Given the description of an element on the screen output the (x, y) to click on. 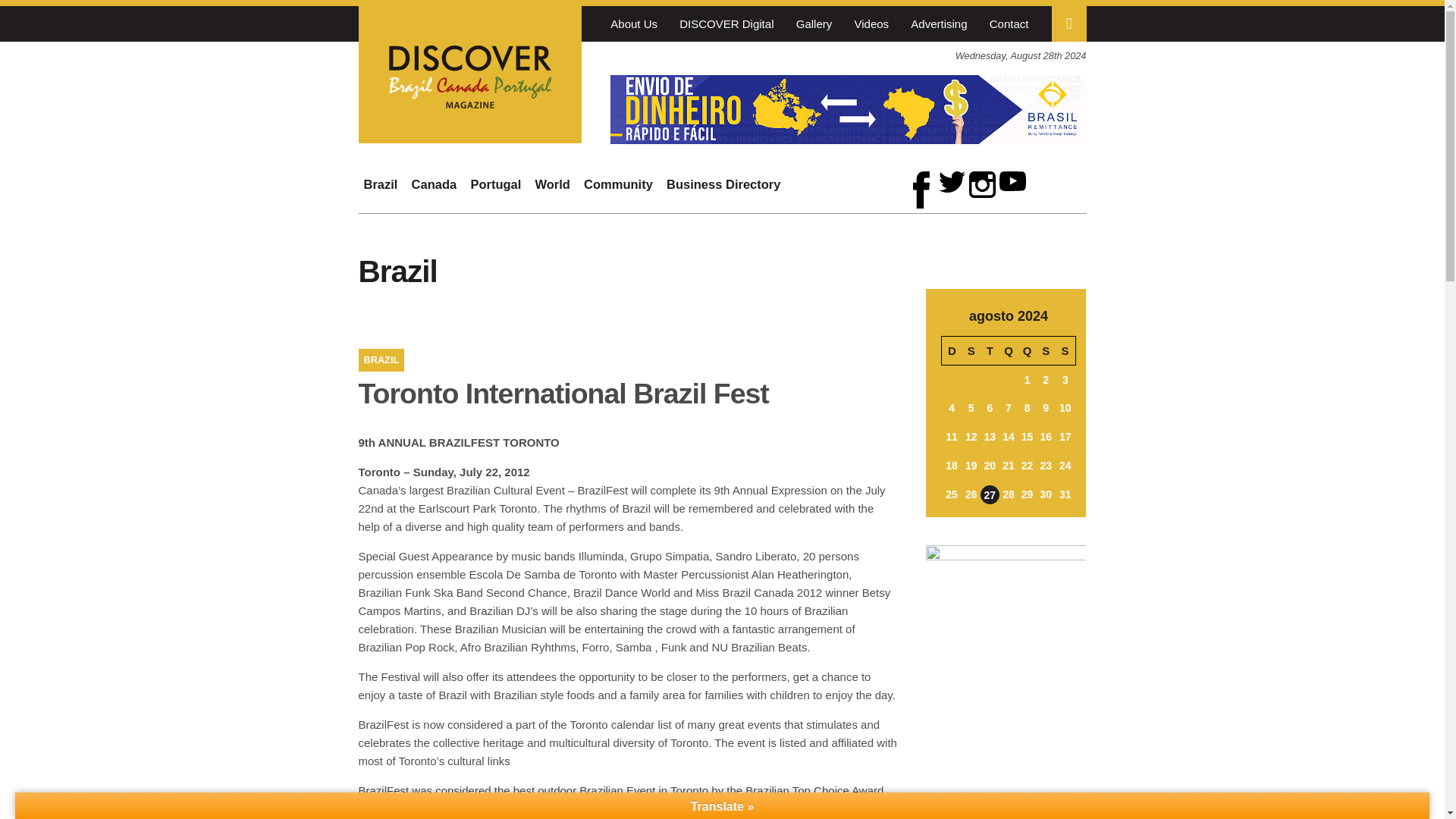
English (619, 55)
World (552, 184)
Advertising (938, 23)
Business Directory (723, 184)
Contact (1009, 23)
Brazil (380, 184)
Portuguese (638, 55)
Community (618, 184)
Gallery (814, 23)
Portugal (494, 184)
